Given the description of an element on the screen output the (x, y) to click on. 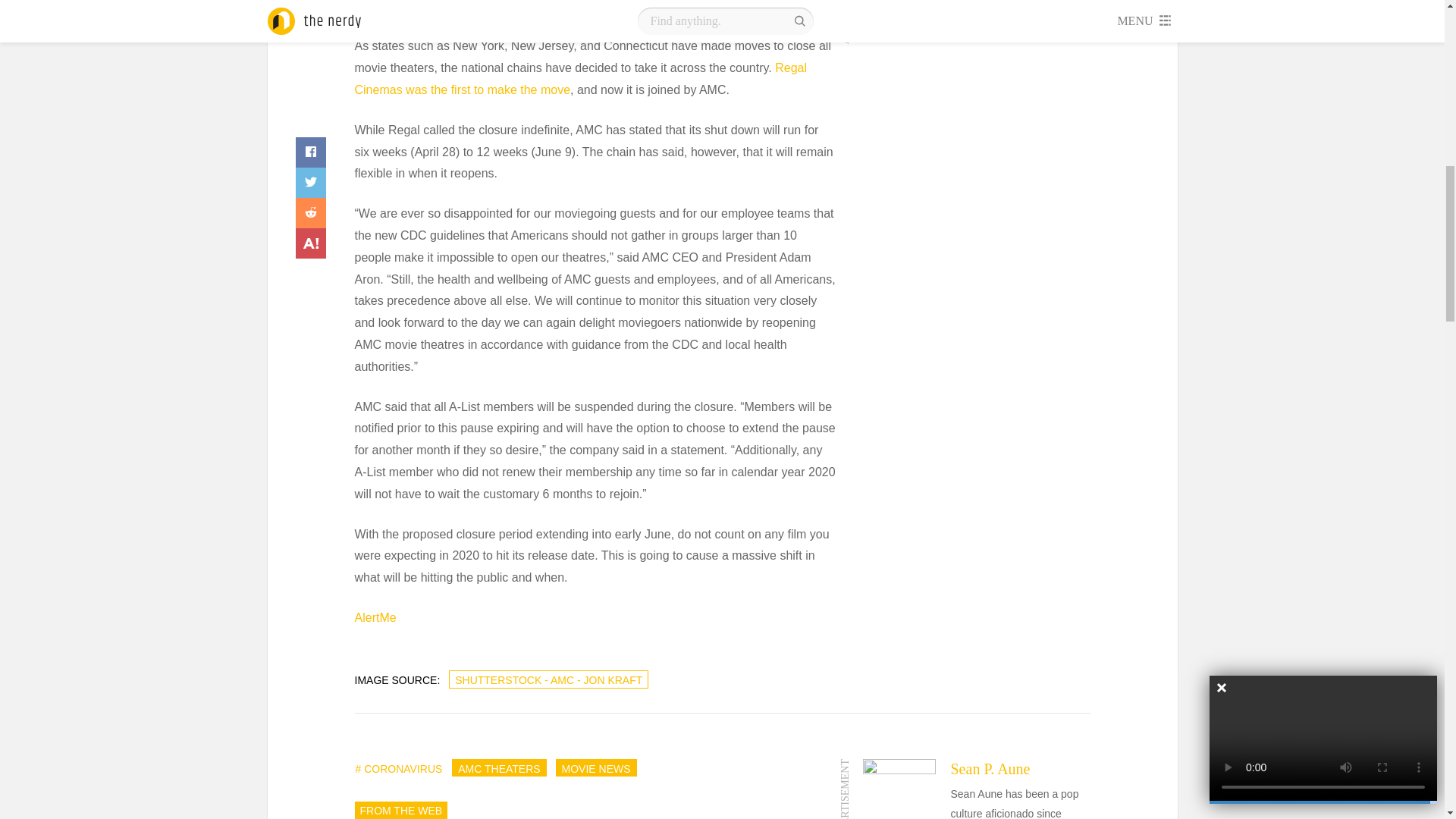
Regal Cinemas was the first to make the move (581, 78)
AlertMe (375, 617)
